Given the description of an element on the screen output the (x, y) to click on. 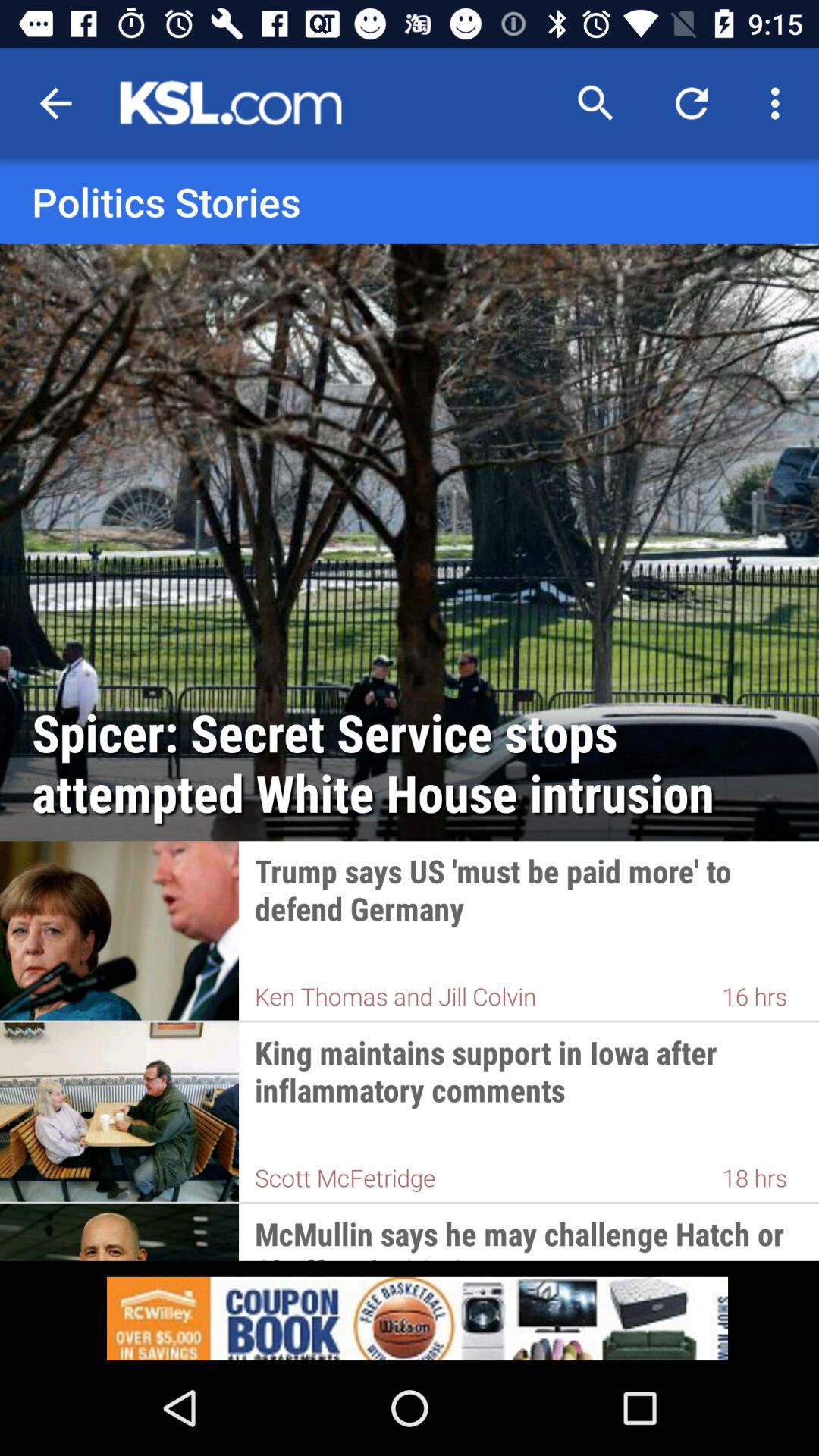
advertisement (409, 1310)
